Given the description of an element on the screen output the (x, y) to click on. 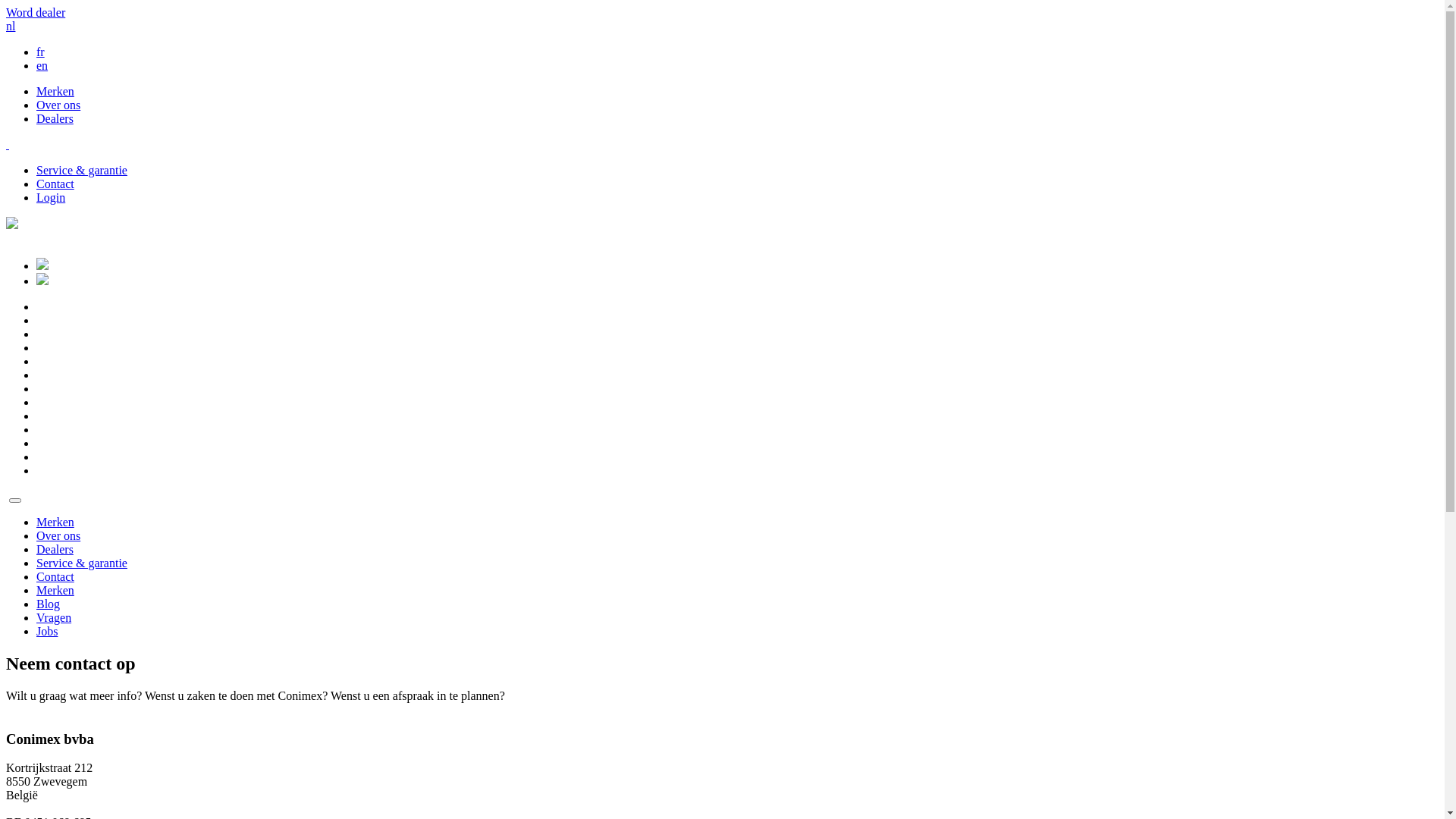
Service & garantie Element type: text (81, 169)
Contact Element type: text (55, 183)
Merken Element type: text (55, 521)
Service & garantie Element type: text (81, 562)
Over ons Element type: text (58, 535)
Merken Element type: text (55, 90)
Vragen Element type: text (53, 617)
Merken Element type: text (55, 589)
Jobs Element type: text (46, 630)
Contact Element type: text (55, 576)
fr Element type: text (40, 51)
nl Element type: text (10, 25)
Over ons Element type: text (58, 104)
Login Element type: text (50, 197)
Dealers Element type: text (54, 548)
en Element type: text (41, 65)
Aanmelden Element type: hover (42, 265)
Winkelmandje Element type: hover (42, 280)
Dealers Element type: text (54, 118)
Blog Element type: text (47, 603)
Word dealer Element type: text (35, 12)
